Given the description of an element on the screen output the (x, y) to click on. 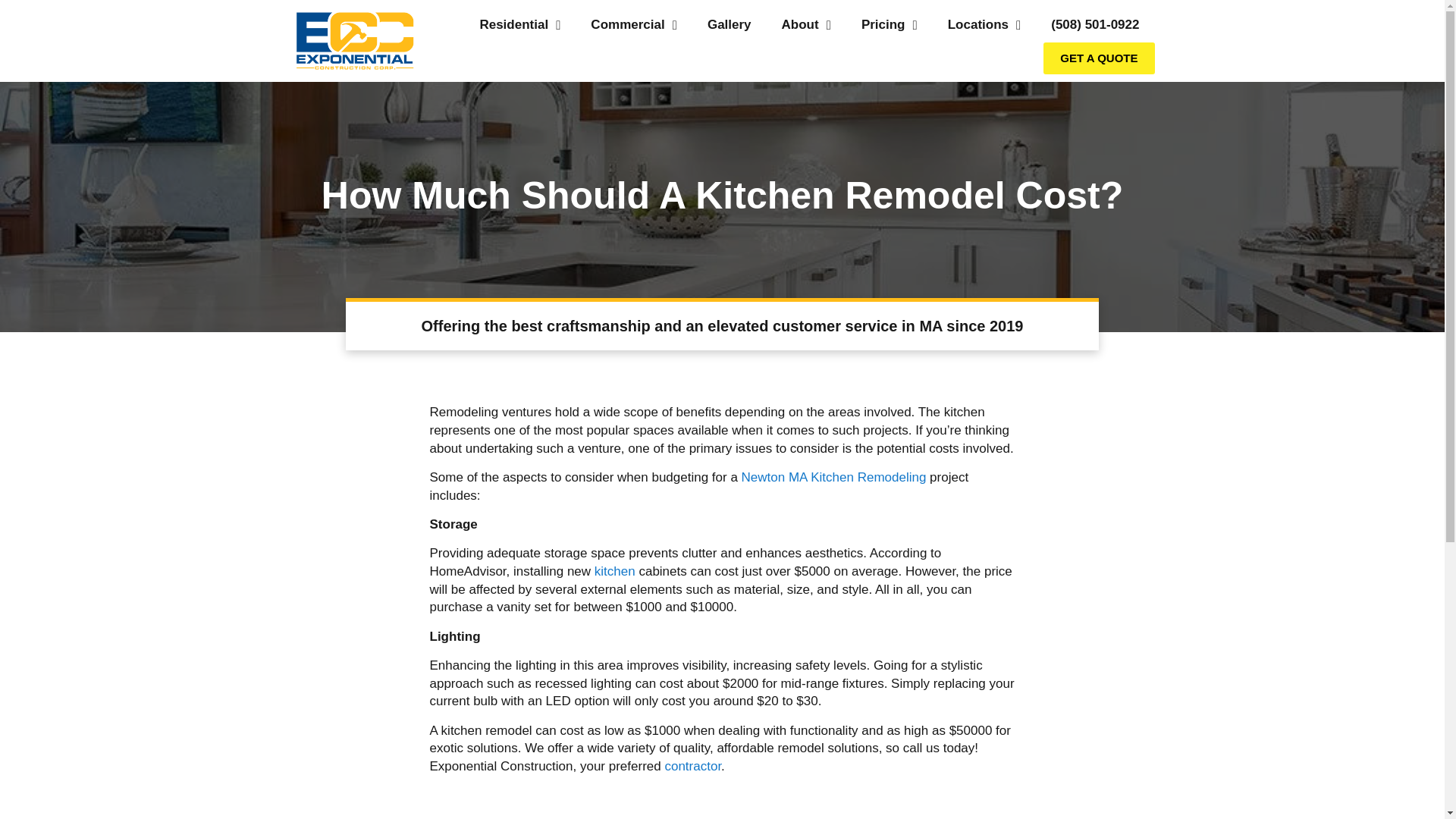
Pricing (889, 24)
Commercial (634, 24)
Gallery (730, 24)
About (806, 24)
Locations (984, 24)
Residential (519, 24)
